Given the description of an element on the screen output the (x, y) to click on. 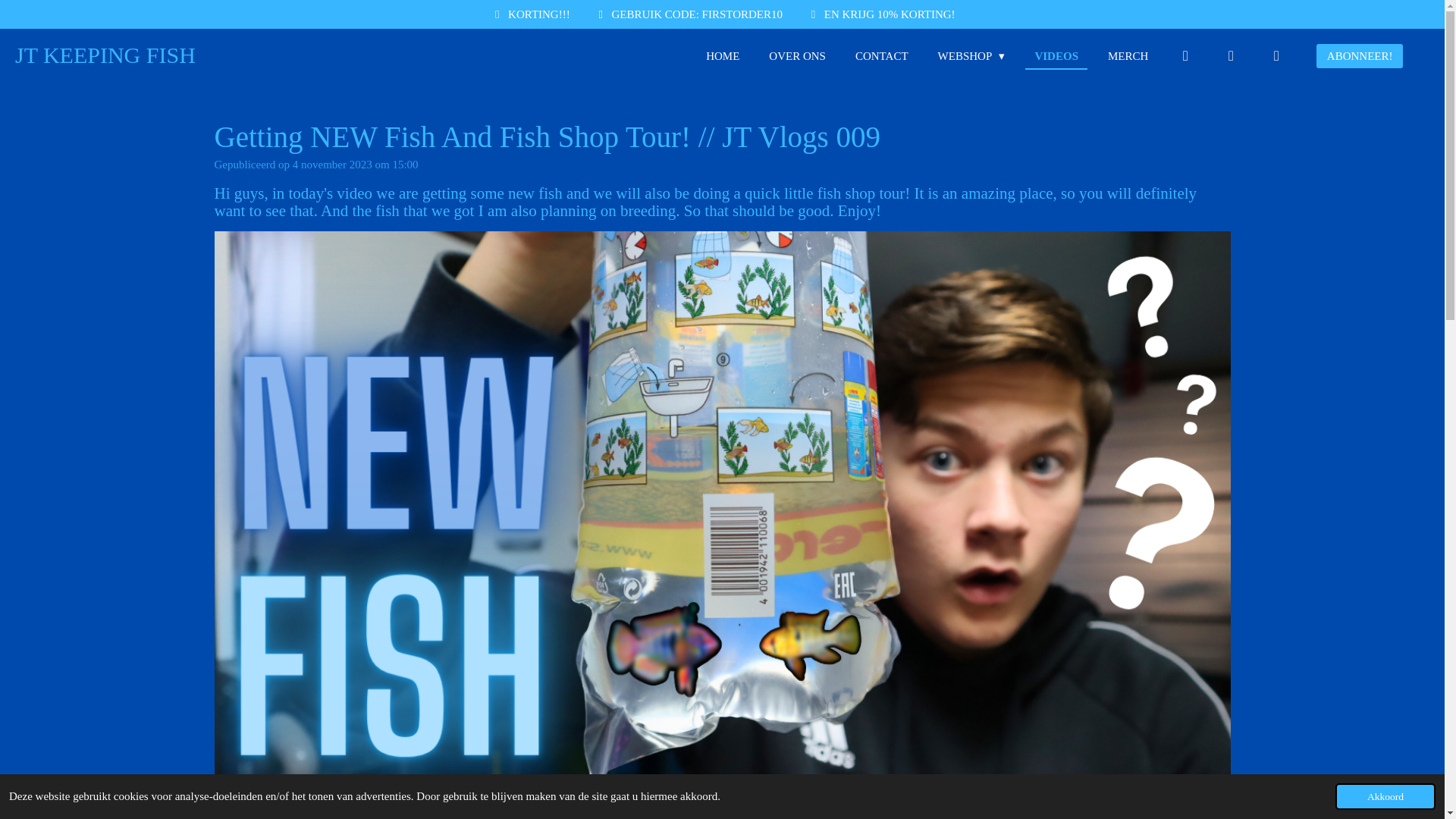
Account (1185, 56)
ABONNEER! (1359, 55)
Bekijk winkelwagen (1276, 56)
MERCH (1128, 56)
CONTACT (881, 56)
WEBSHOP (971, 56)
JT KEEPING FISH (104, 54)
Zoeken (1230, 56)
Abonneer! (1359, 55)
VIDEOS (1056, 56)
OVER ONS (797, 56)
HOME (722, 56)
